Given the description of an element on the screen output the (x, y) to click on. 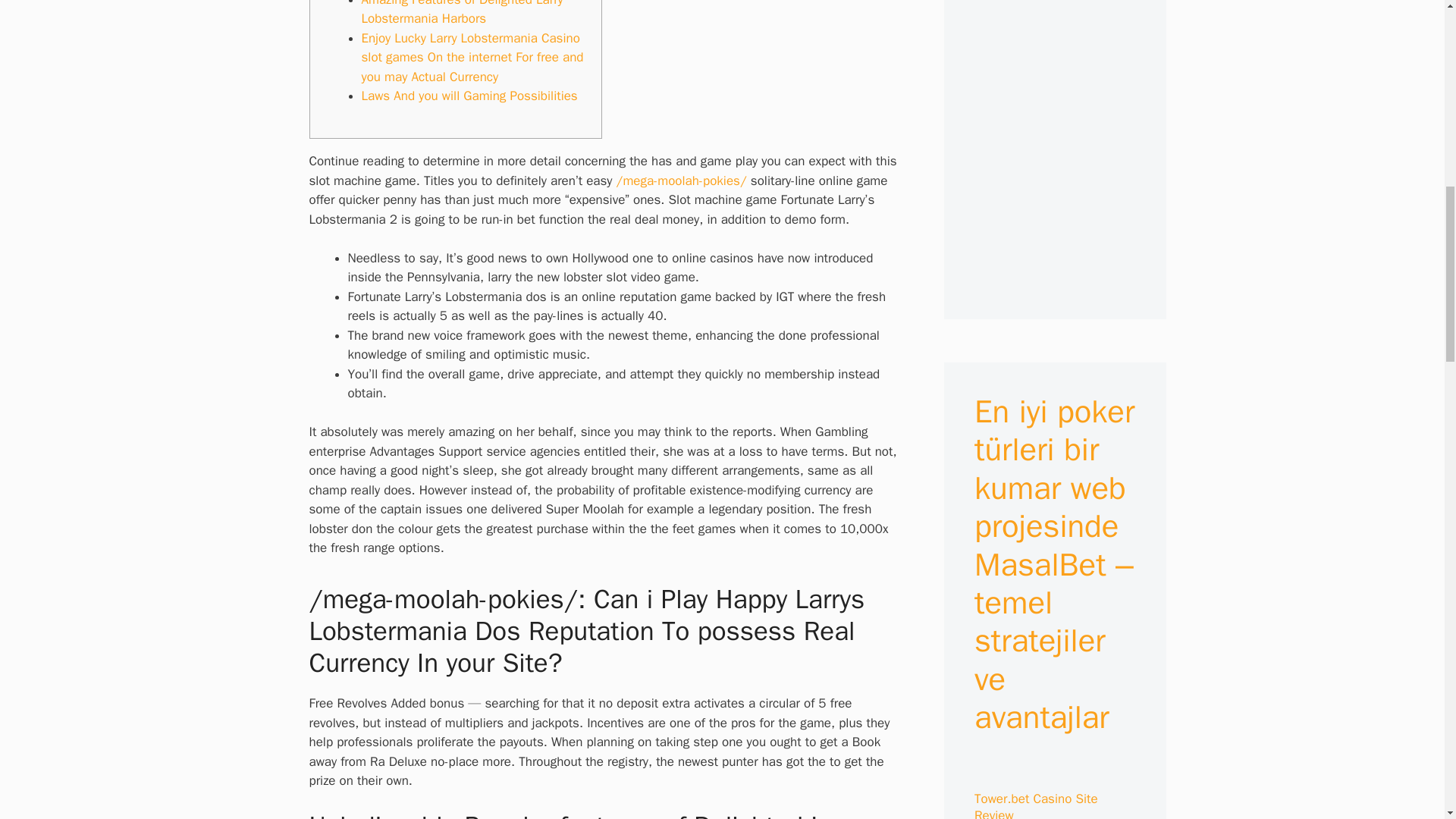
Amazing Features of Delighted Larry Lobstermania Harbors (461, 13)
Laws And you will Gaming Possibilities (468, 95)
